Given the description of an element on the screen output the (x, y) to click on. 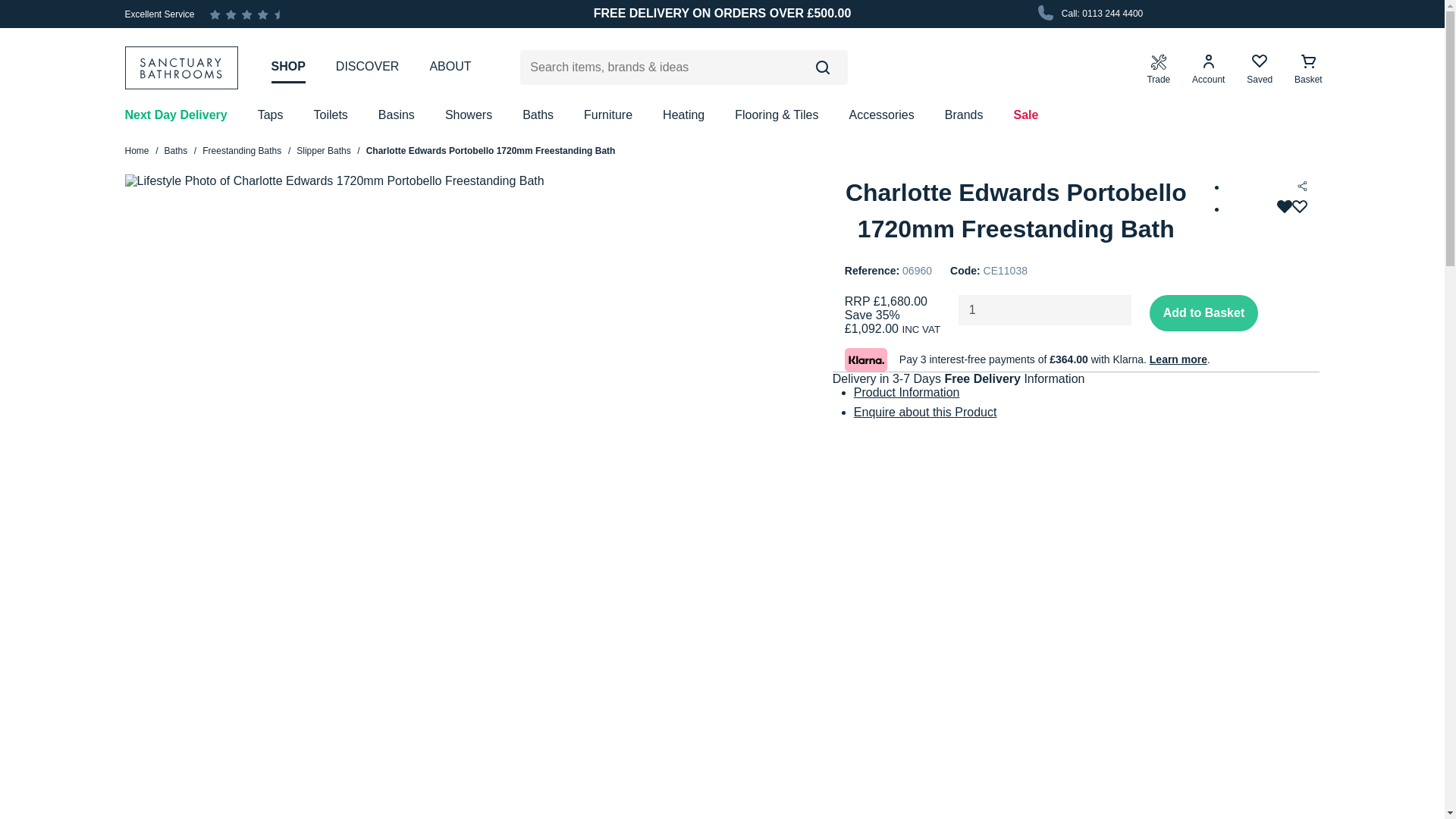
Basket (1307, 69)
Account (1208, 69)
Remove from wishlist (1291, 208)
ABOUT (449, 66)
Basket (1307, 69)
DISCOVER (367, 66)
Product Information (906, 391)
Saved Items (1259, 69)
SHOP (287, 66)
Taps (270, 115)
